Given the description of an element on the screen output the (x, y) to click on. 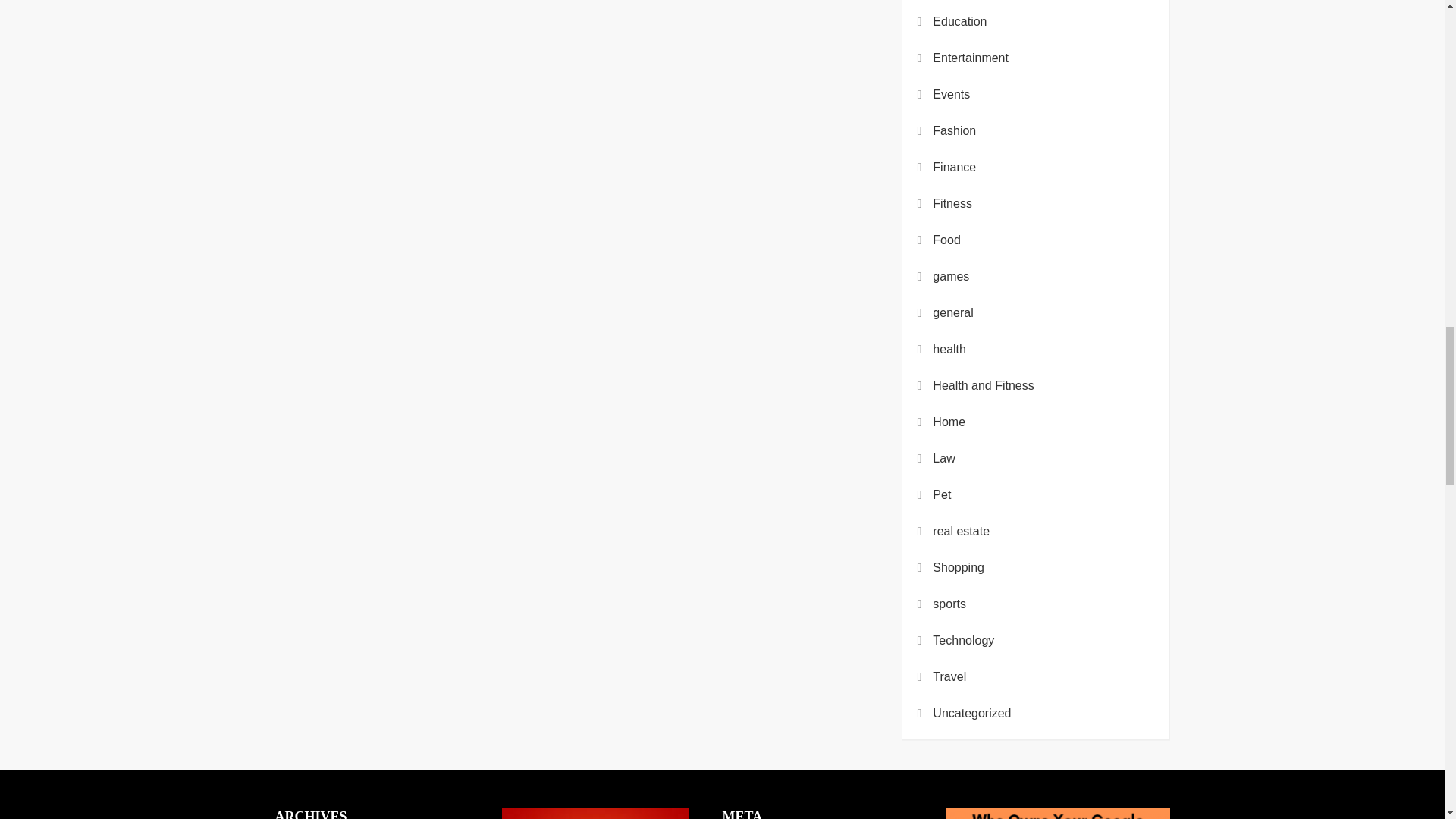
Fitness (952, 203)
general (952, 312)
games (951, 276)
Finance (954, 167)
Food (946, 240)
Fashion (954, 130)
Events (951, 94)
Entertainment (971, 57)
Education (960, 21)
